Given the description of an element on the screen output the (x, y) to click on. 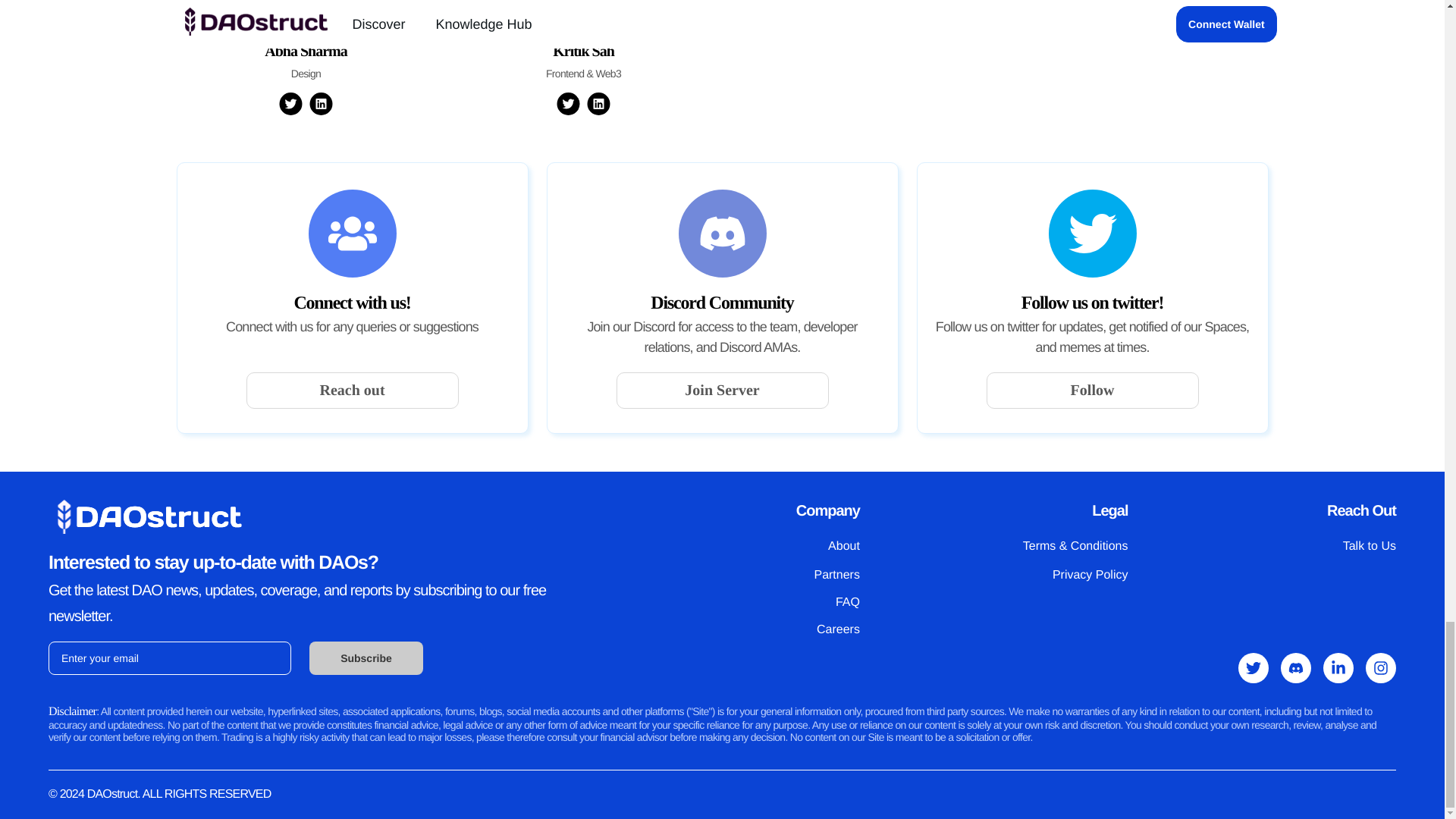
Partners (836, 574)
About (844, 545)
Privacy Policy (1090, 574)
Subscribe (365, 657)
FAQ (847, 602)
Follow (1091, 390)
Careers (838, 629)
Reach out (352, 390)
Talk to Us (1369, 545)
Join Server (721, 390)
